Given the description of an element on the screen output the (x, y) to click on. 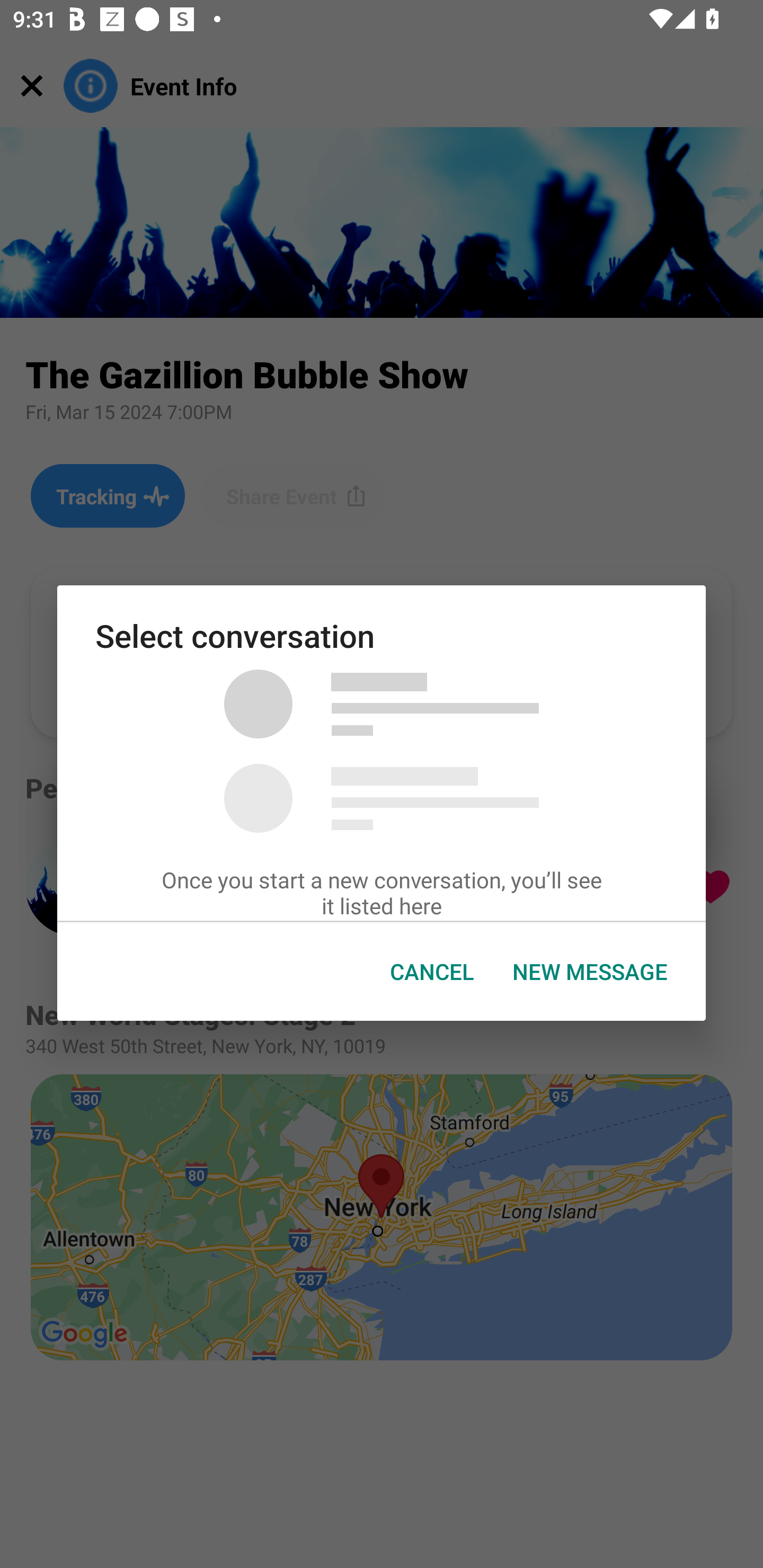
CANCEL (431, 971)
NEW MESSAGE (589, 971)
